Given the description of an element on the screen output the (x, y) to click on. 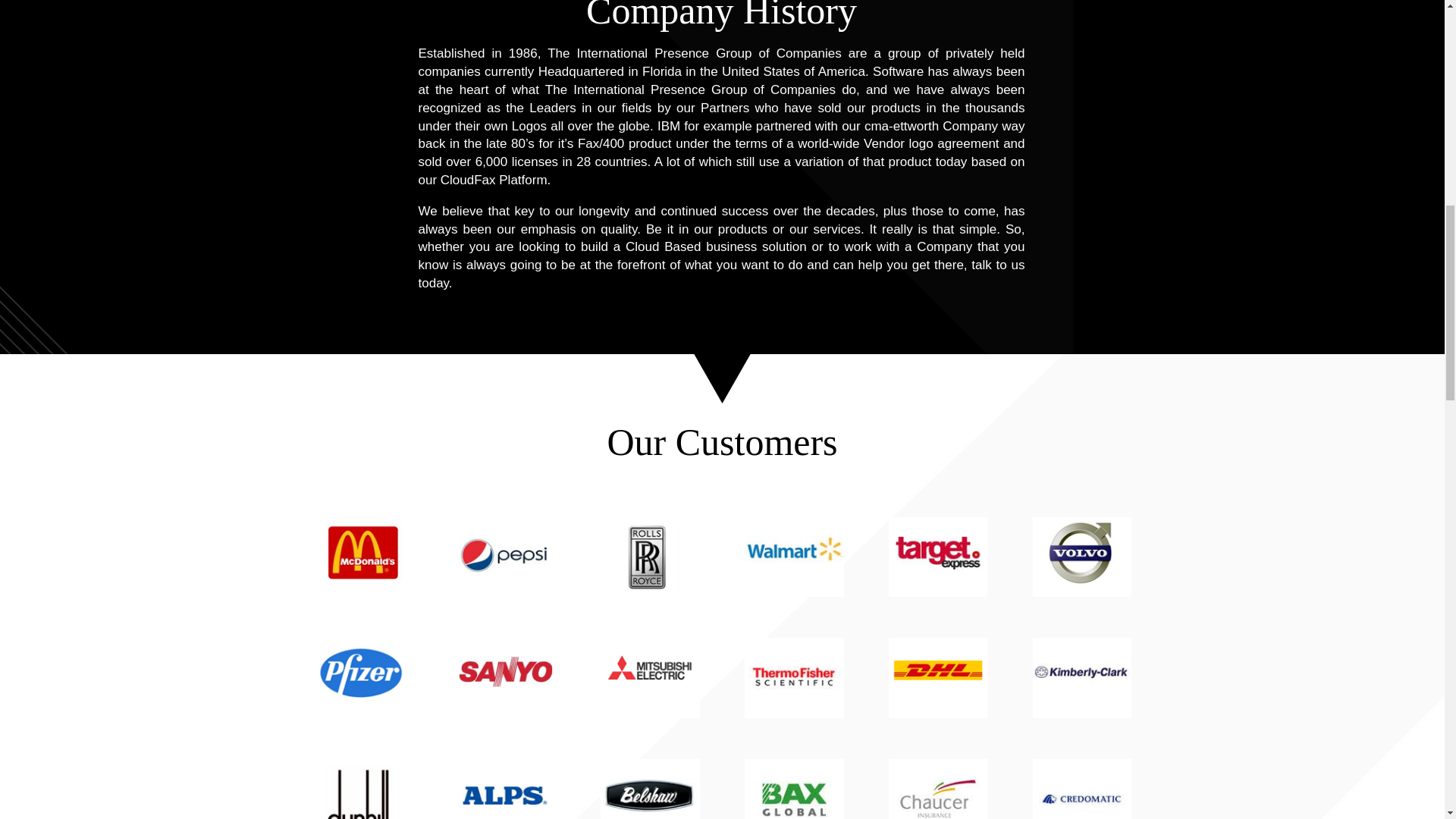
09-mitsubishi (648, 678)
10-thermofisher (793, 678)
11-dhl (937, 678)
08-sanyo (505, 678)
00-mcdonalds (361, 556)
12-kimberlyclark (1081, 678)
07-pfizer (361, 678)
04-walmart (793, 556)
03-rollsroyce (648, 556)
06-volvo (1081, 556)
alfreddunhill (361, 789)
05-target (937, 556)
01-pepsi (505, 556)
